Given the description of an element on the screen output the (x, y) to click on. 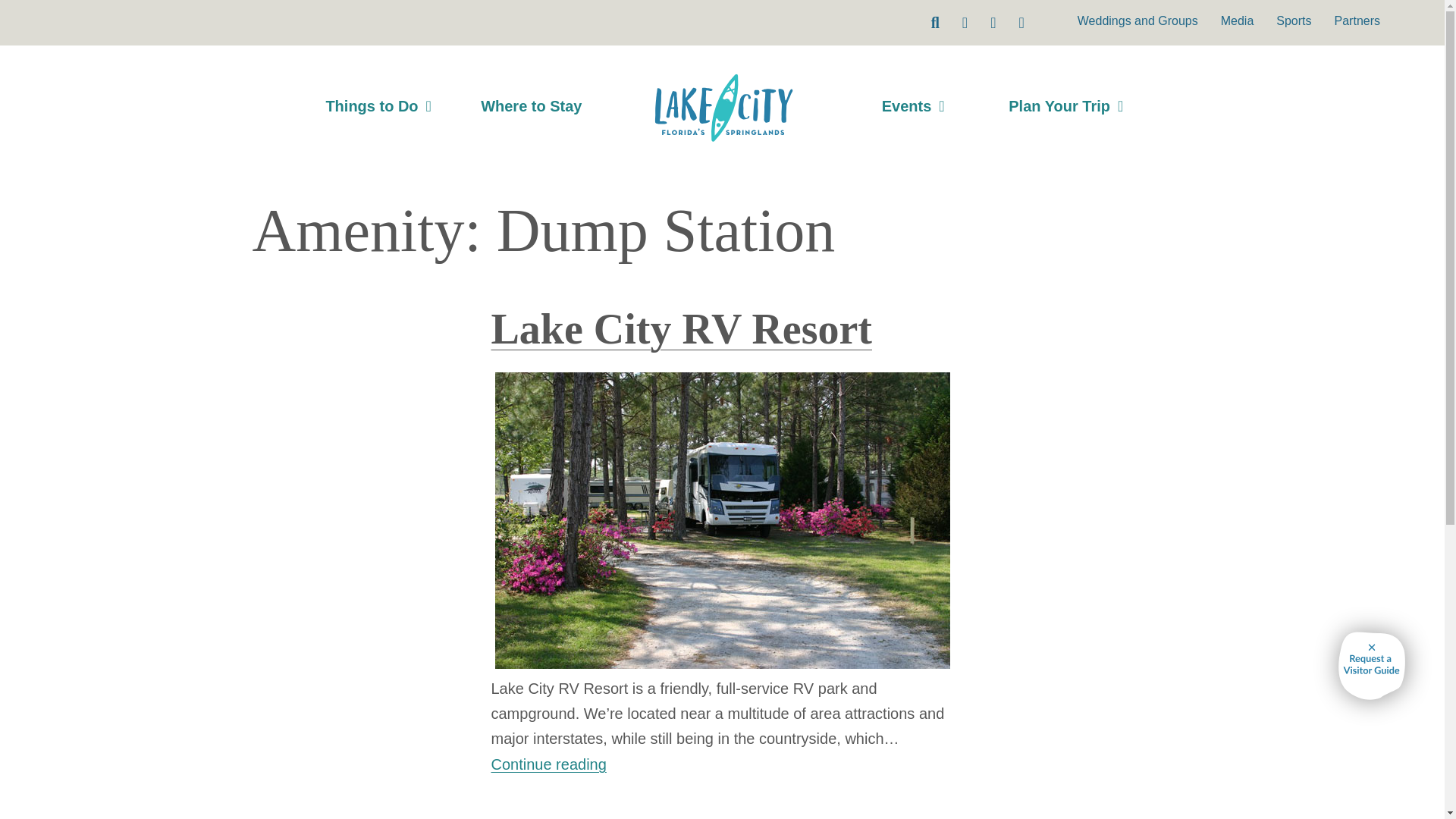
Sports (1293, 21)
Media (1237, 21)
Things to Do (377, 105)
Partners (1357, 21)
Weddings and Groups (1137, 21)
